Given the description of an element on the screen output the (x, y) to click on. 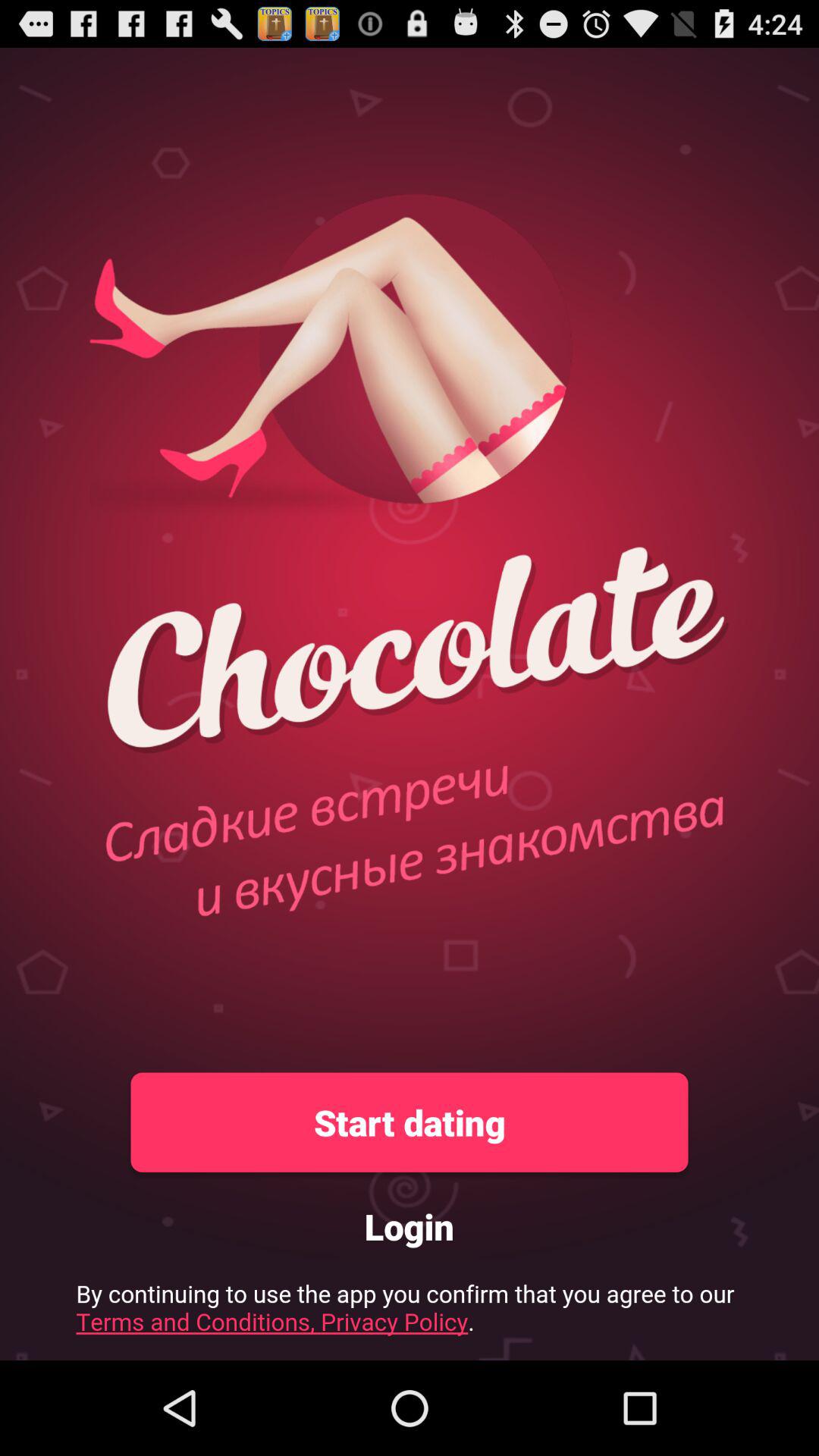
pricacy policy link (409, 1312)
